Given the description of an element on the screen output the (x, y) to click on. 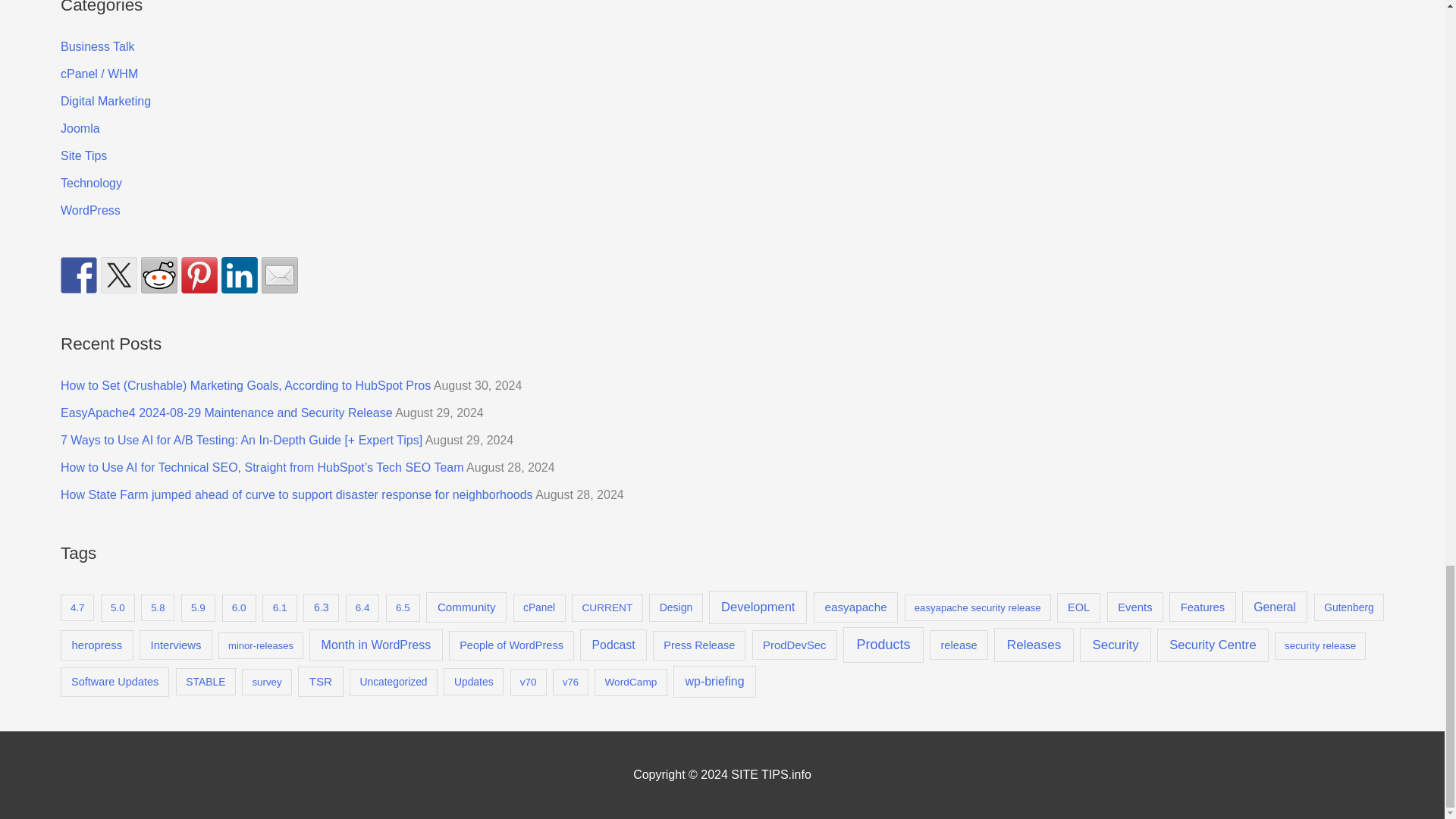
WordPress (90, 210)
Pin it with Pinterest (198, 275)
Business Talk (98, 46)
Joomla (80, 128)
Share on Reddit (159, 275)
Site Tips (83, 155)
Share on Twitter (118, 275)
Digital Marketing (106, 101)
Share on Facebook (79, 275)
Technology (91, 182)
